Given the description of an element on the screen output the (x, y) to click on. 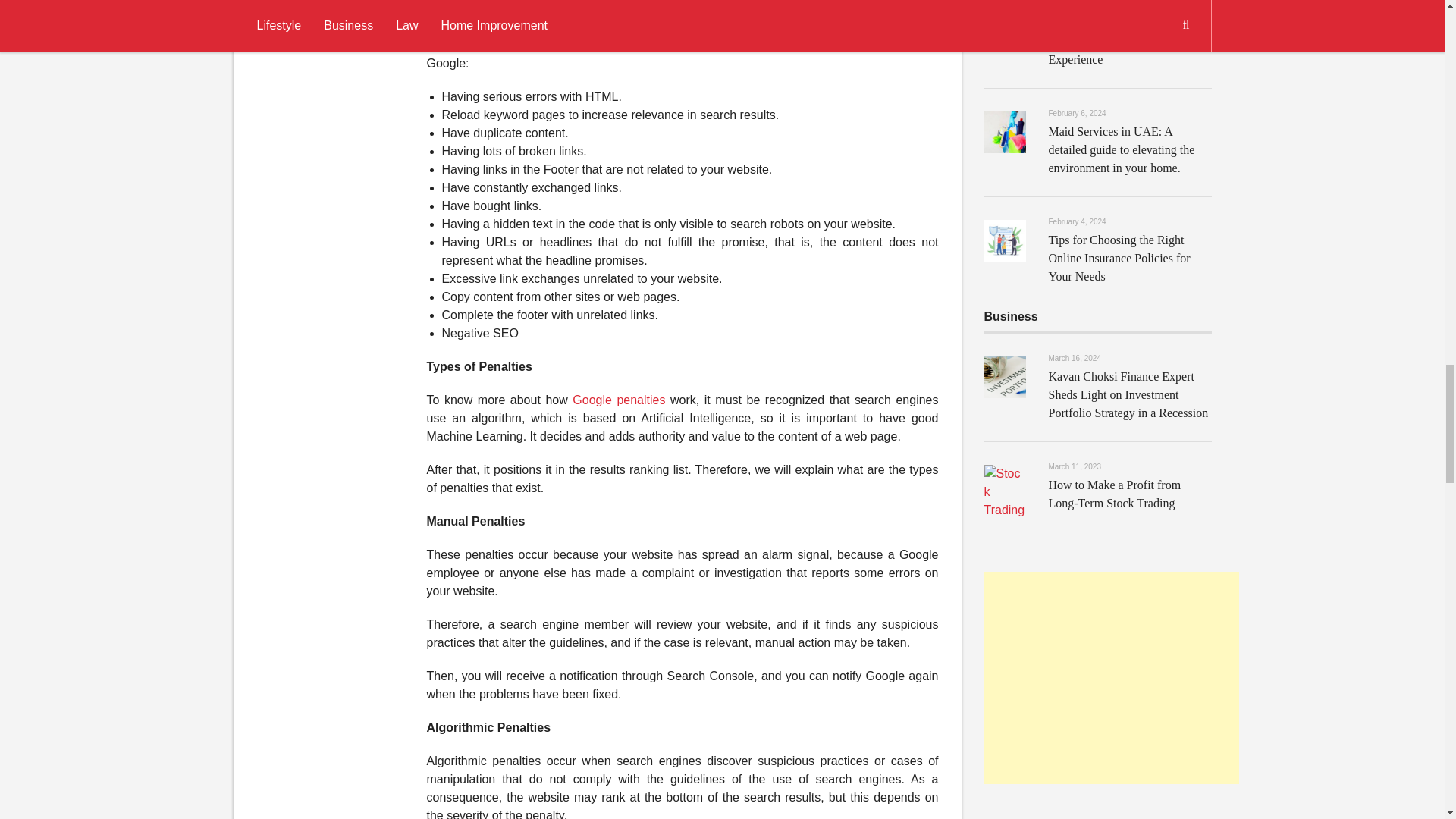
Google penalties (618, 399)
